Given the description of an element on the screen output the (x, y) to click on. 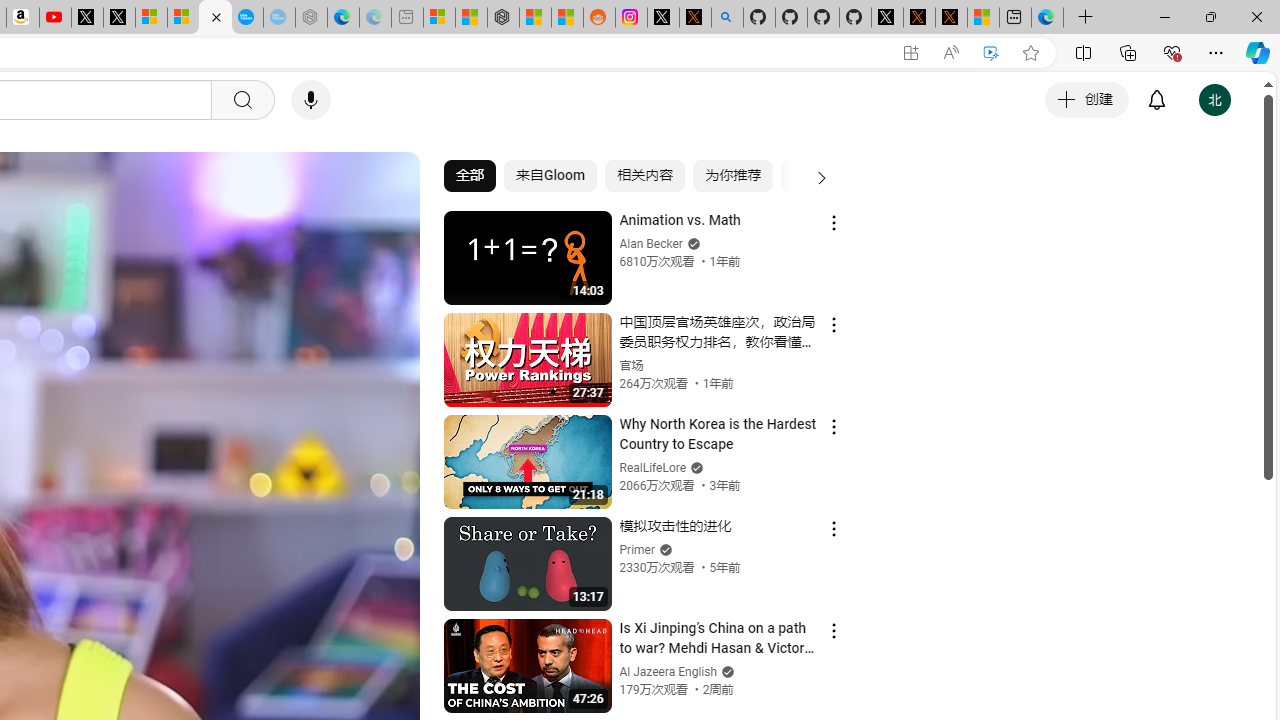
Nordace - Duffels (502, 17)
Nordace - Nordace has arrived Hong Kong - Sleeping (310, 17)
X Privacy Policy (950, 17)
Profile / X (886, 17)
Read aloud this page (Ctrl+Shift+U) (950, 53)
X (118, 17)
Close (1256, 16)
New Tab (1085, 17)
Opinion: Op-Ed and Commentary - USA TODAY (246, 17)
